Given the description of an element on the screen output the (x, y) to click on. 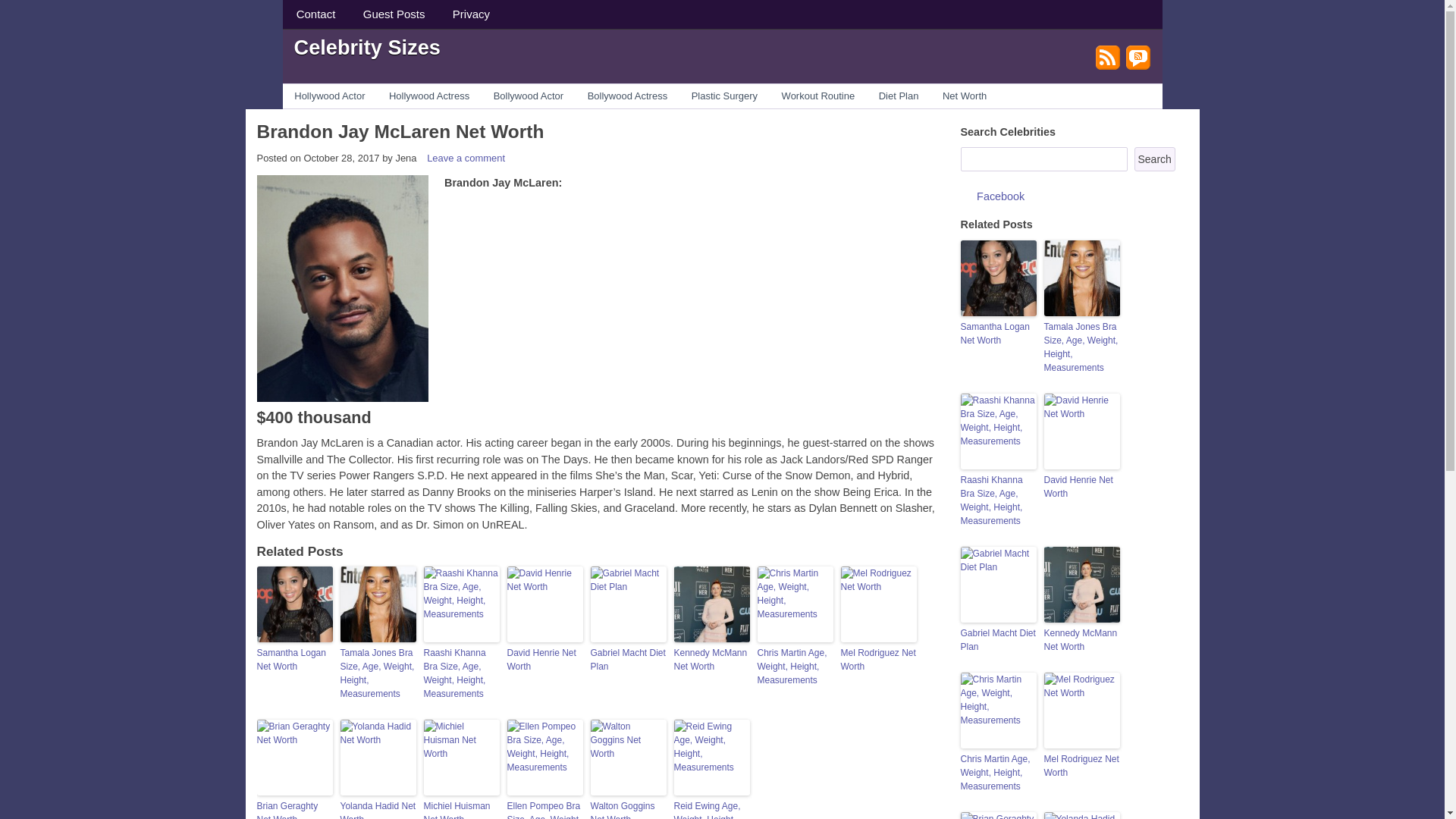
Plastic Surgery (724, 96)
8:54 am (340, 157)
Kennedy McMann Net Worth (710, 659)
October 28, 2017 (340, 157)
Hollywood Actress (429, 96)
Workout Routine (818, 96)
Tamala Jones Bra Size, Age, Weight, Height, Measurements (376, 673)
Diet Plan (898, 96)
Gabriel Macht Diet Plan (627, 659)
Net Worth (964, 96)
Bollywood Actress (627, 96)
Guest Posts (394, 14)
Celebrity Sizes (367, 46)
Permalink to Brandon Jay McLaren Net Worth (399, 131)
Search (1154, 159)
